Given the description of an element on the screen output the (x, y) to click on. 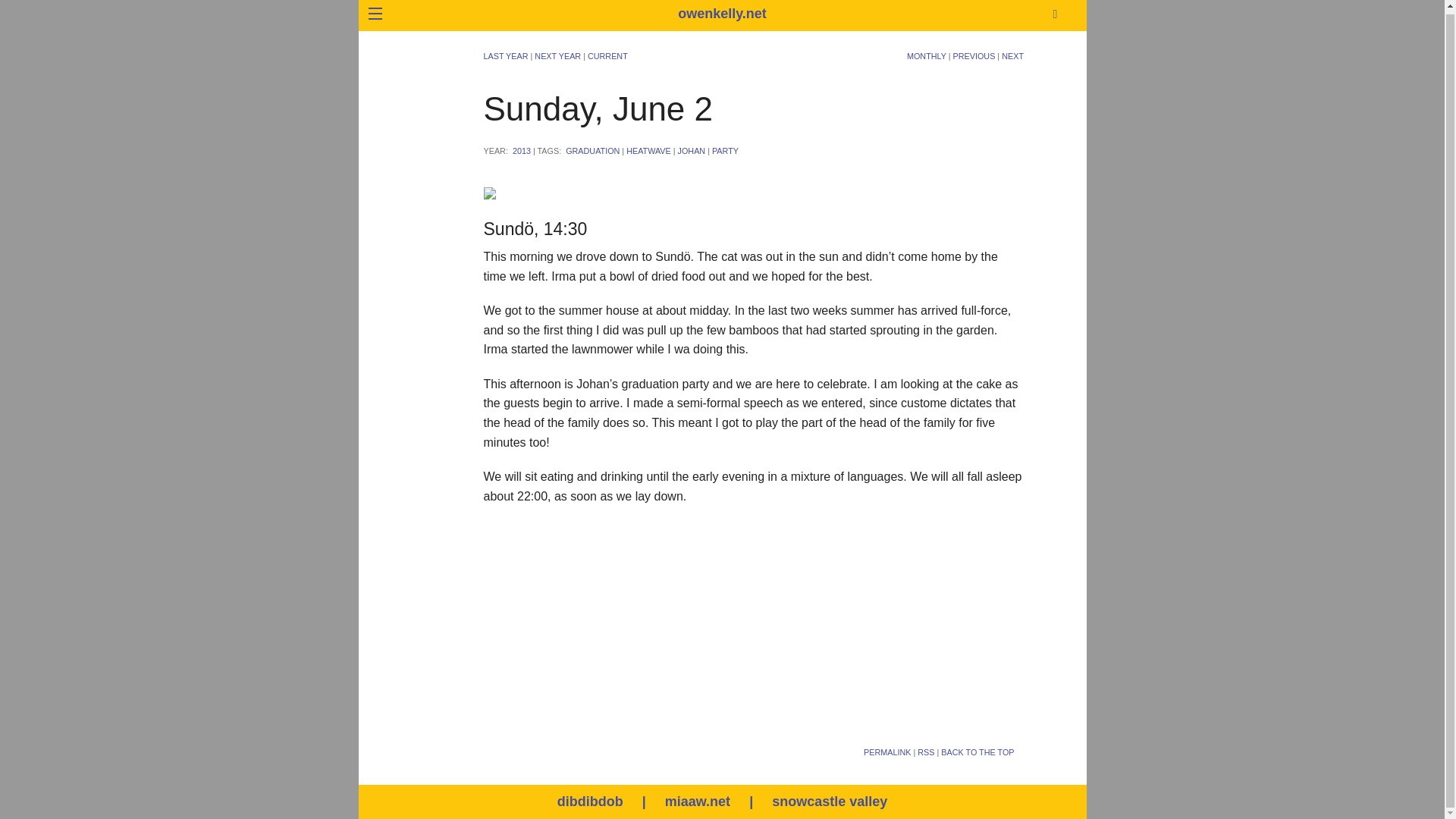
Search (1148, 150)
CURRENT (607, 55)
Notes (263, 142)
The Time of Day (263, 213)
owenkelly.net (722, 13)
About (263, 36)
LAST YEAR (505, 55)
PREVIOUS (974, 55)
Contact me (263, 72)
Essays (263, 107)
